Given the description of an element on the screen output the (x, y) to click on. 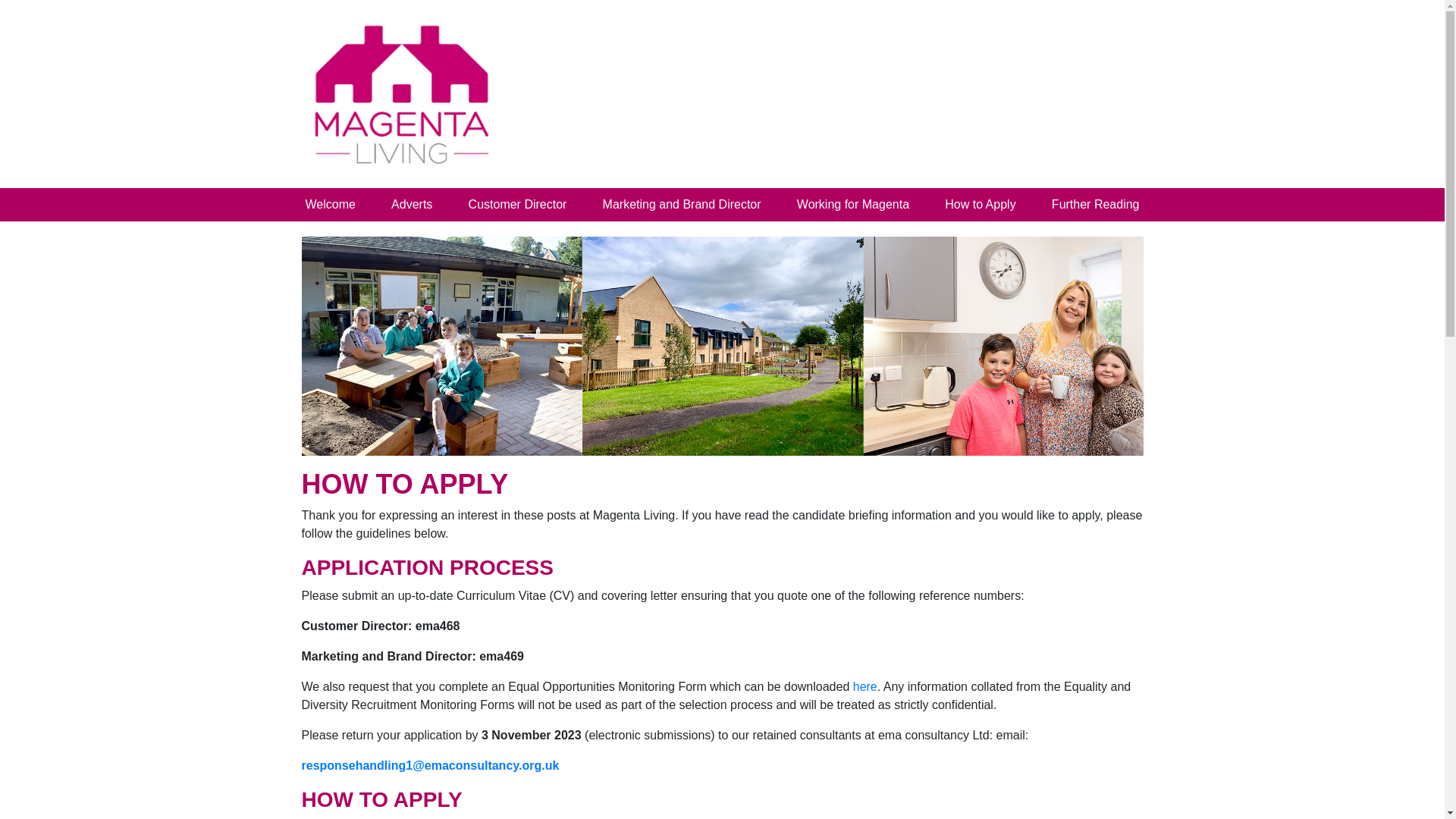
Marketing and Brand Director (681, 204)
Working for Magenta (852, 204)
Further Reading (1095, 204)
here (865, 685)
Adverts (411, 204)
Welcome (329, 204)
Customer Director (517, 204)
How to Apply (979, 204)
